Given the description of an element on the screen output the (x, y) to click on. 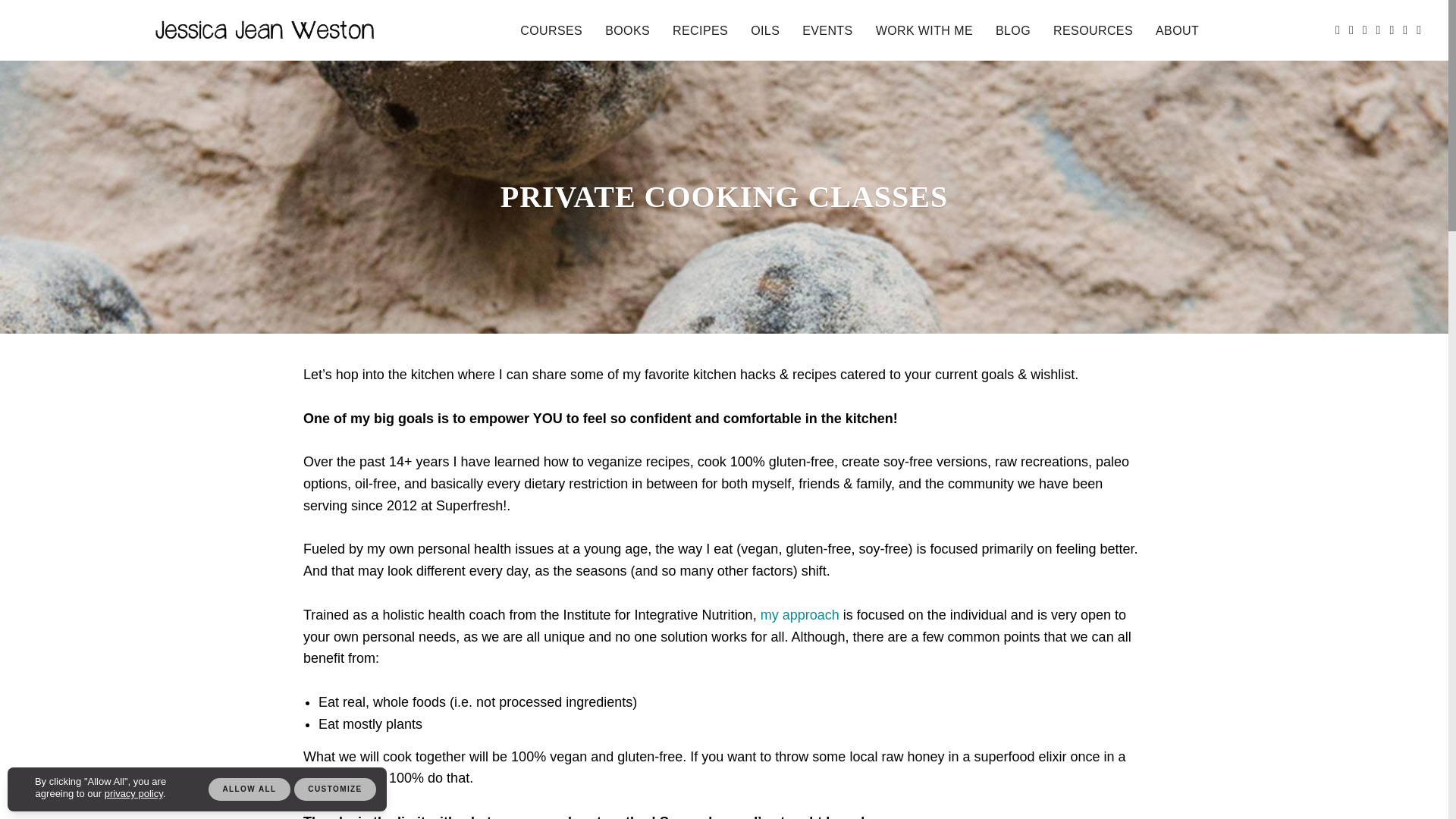
WORK WITH ME (923, 30)
EVENTS (827, 30)
BLOG (1013, 30)
ABOUT (1177, 30)
RECIPES (699, 30)
OILS (765, 30)
BOOKS (627, 30)
RESOURCES (1092, 30)
COURSES (551, 30)
my approach (800, 614)
